Given the description of an element on the screen output the (x, y) to click on. 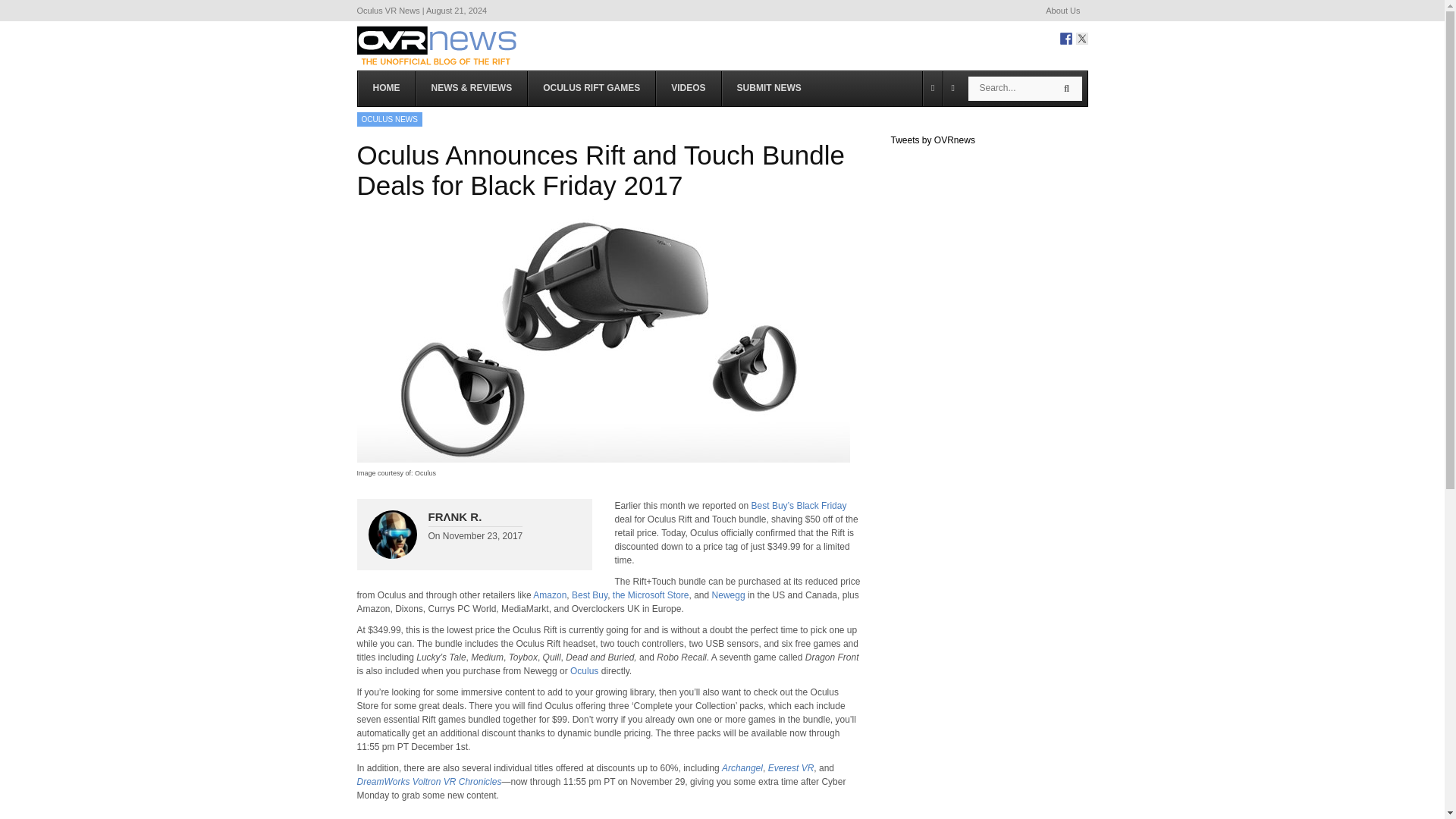
the Microsoft Store (650, 594)
Newegg (728, 594)
Everest VR (790, 767)
HOME (386, 88)
Send us an Oculus news tip! (768, 88)
Amazon (549, 594)
OCULUS NEWS (389, 119)
Archangel (742, 767)
Discover Oculus Rift Games and Apps (591, 88)
